Given the description of an element on the screen output the (x, y) to click on. 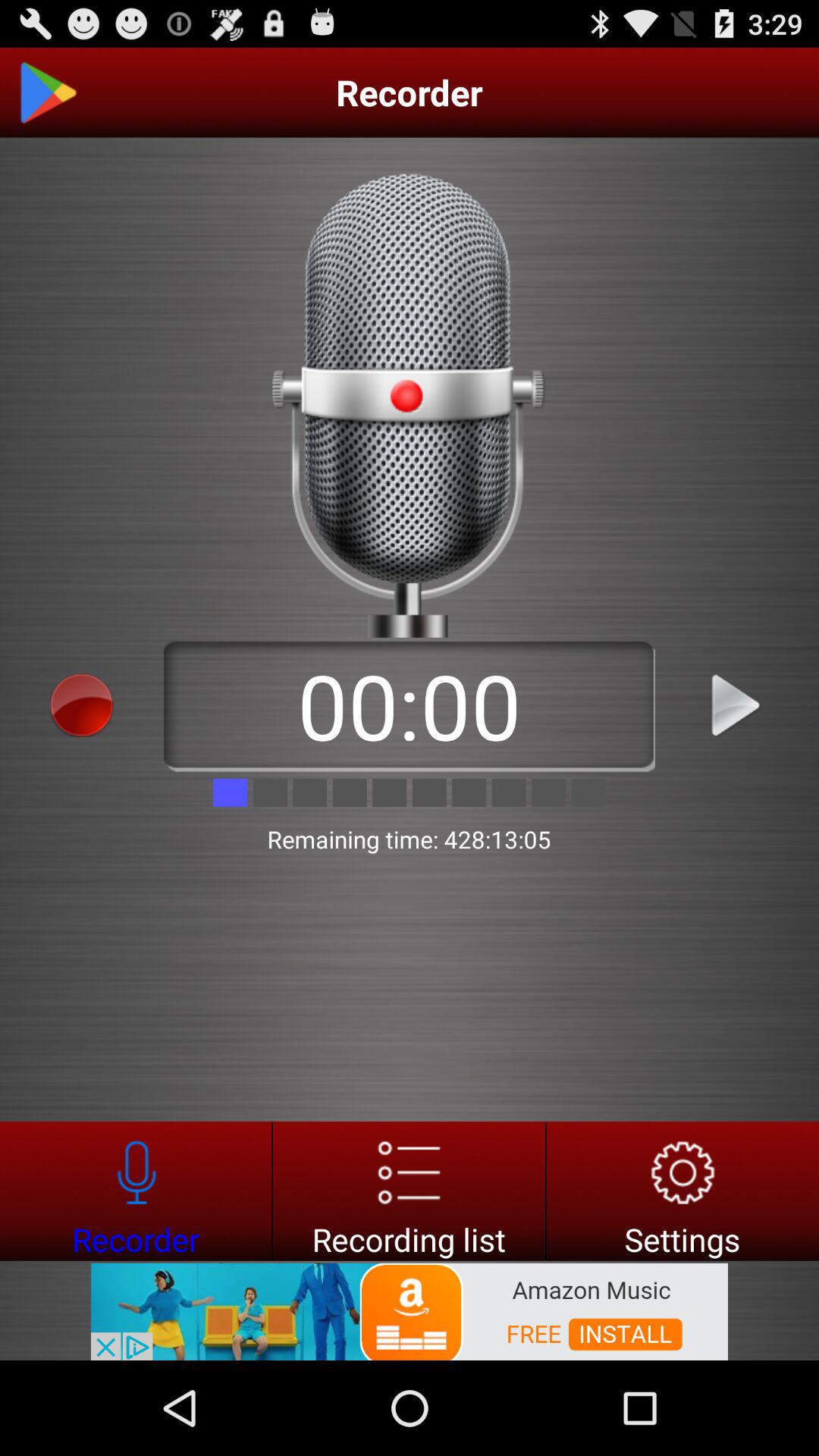
go to recording list (409, 1190)
